Given the description of an element on the screen output the (x, y) to click on. 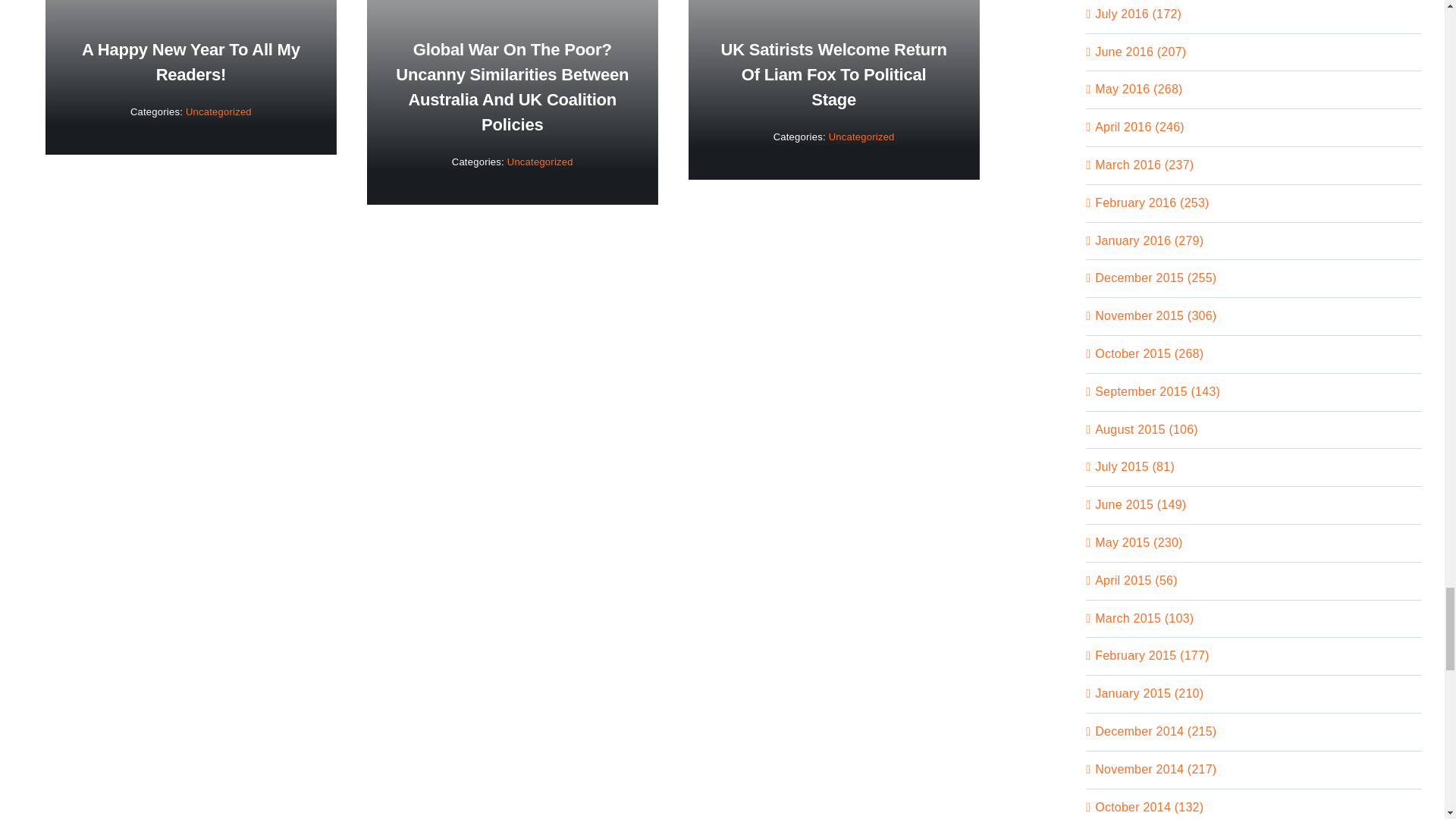
Uncategorized (218, 111)
A Happy New Year To All My Readers! (190, 62)
